Given the description of an element on the screen output the (x, y) to click on. 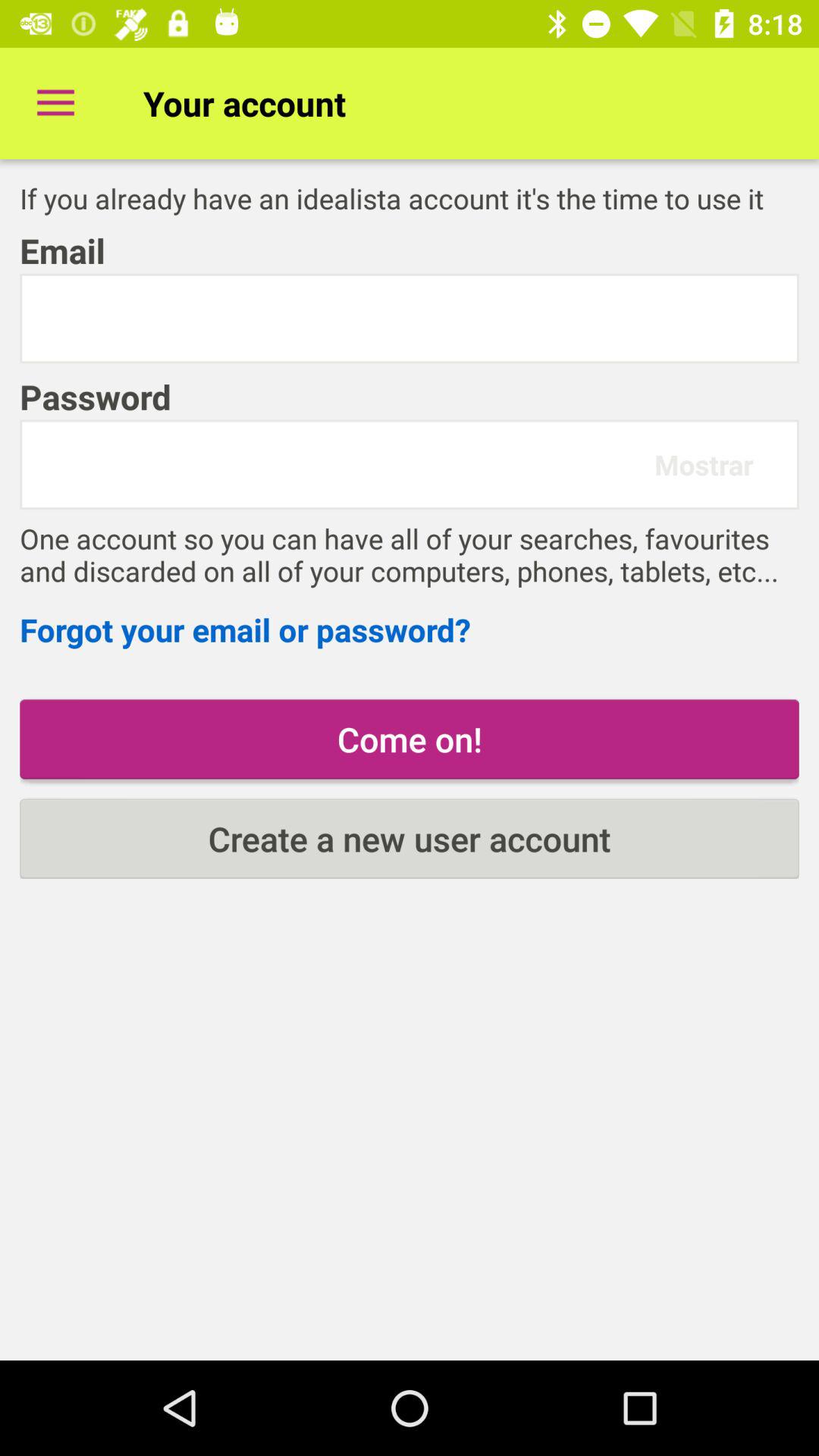
turn off the item above the one account so item (343, 464)
